Given the description of an element on the screen output the (x, y) to click on. 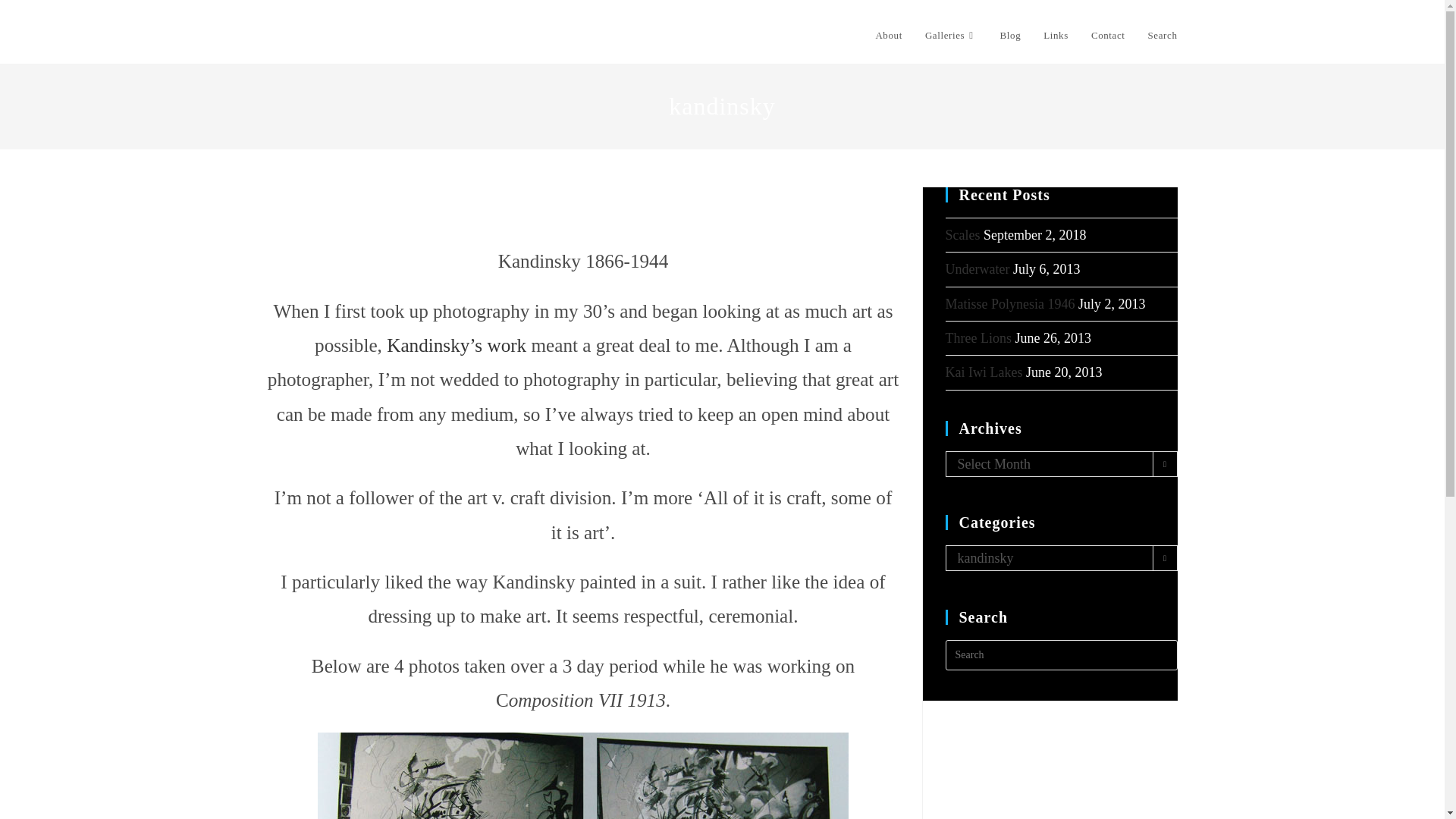
About (888, 35)
Search (1163, 35)
Scales (961, 234)
Contact (1108, 35)
Galleries (951, 35)
Peter Peryer (315, 34)
